Given the description of an element on the screen output the (x, y) to click on. 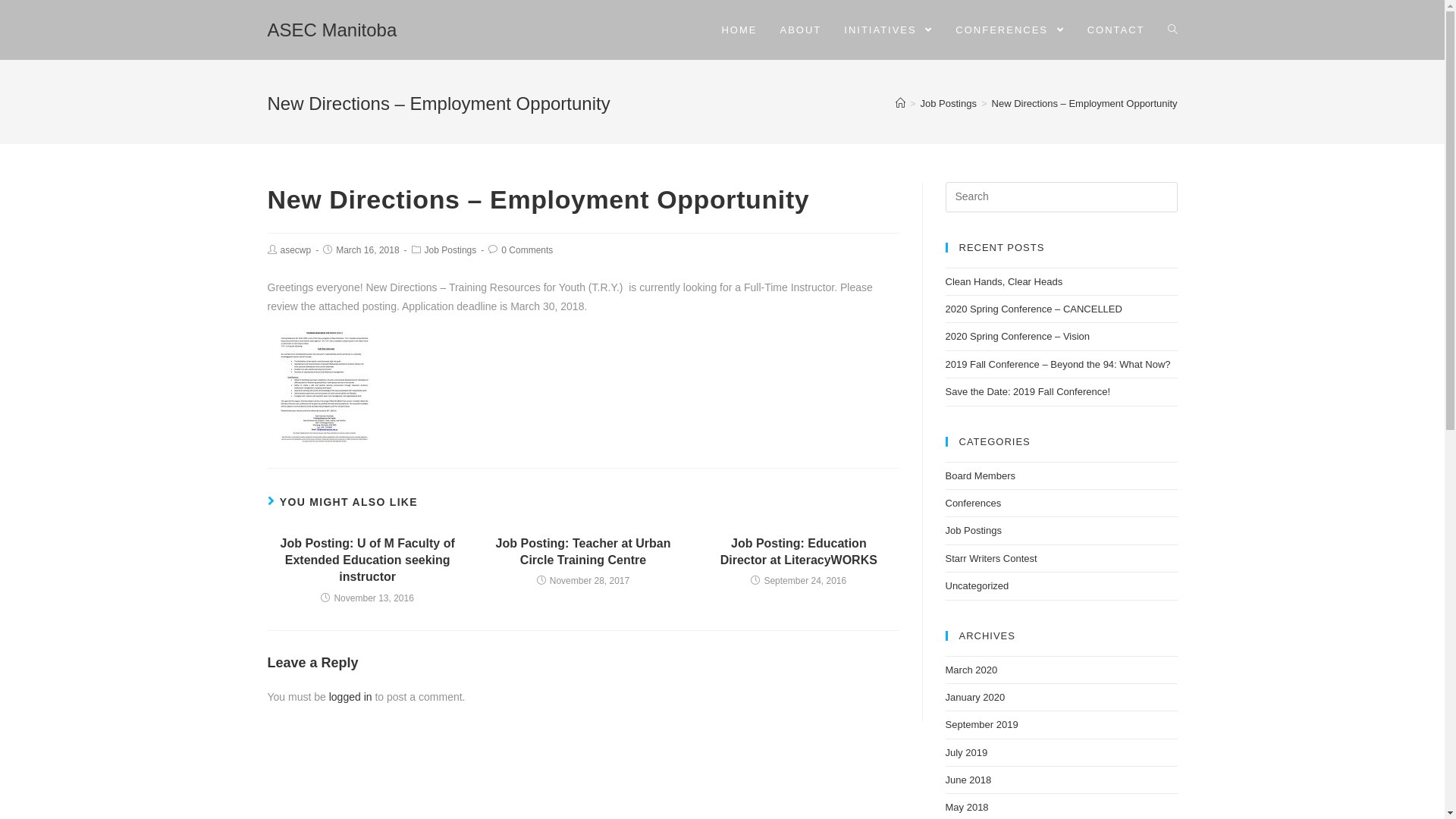
Save the Date: 2019 Fall Conference! Element type: text (1027, 391)
Job Posting: Teacher at Urban Circle Training Centre Element type: text (583, 552)
Job Postings Element type: text (972, 530)
Job Postings Element type: text (450, 249)
ASEC Manitoba Element type: text (331, 29)
Starr Writers Contest Element type: text (990, 558)
INITIATIVES Element type: text (888, 29)
June 2018 Element type: text (967, 779)
CONFERENCES Element type: text (1009, 29)
January 2020 Element type: text (974, 696)
Conferences Element type: text (972, 502)
Uncategorized Element type: text (976, 585)
ABOUT Element type: text (800, 29)
Clean Hands, Clear Heads Element type: text (1003, 281)
Board Members Element type: text (979, 475)
0 Comments Element type: text (526, 249)
logged in Element type: text (350, 696)
asecwp Element type: text (295, 249)
March 2020 Element type: text (970, 669)
July 2019 Element type: text (965, 752)
HOME Element type: text (738, 29)
May 2018 Element type: text (966, 806)
September 2019 Element type: text (980, 724)
Job Posting: Education Director at LiteracyWORKS Element type: text (798, 552)
Job Postings Element type: text (948, 103)
CONTACT Element type: text (1116, 29)
